Given the description of an element on the screen output the (x, y) to click on. 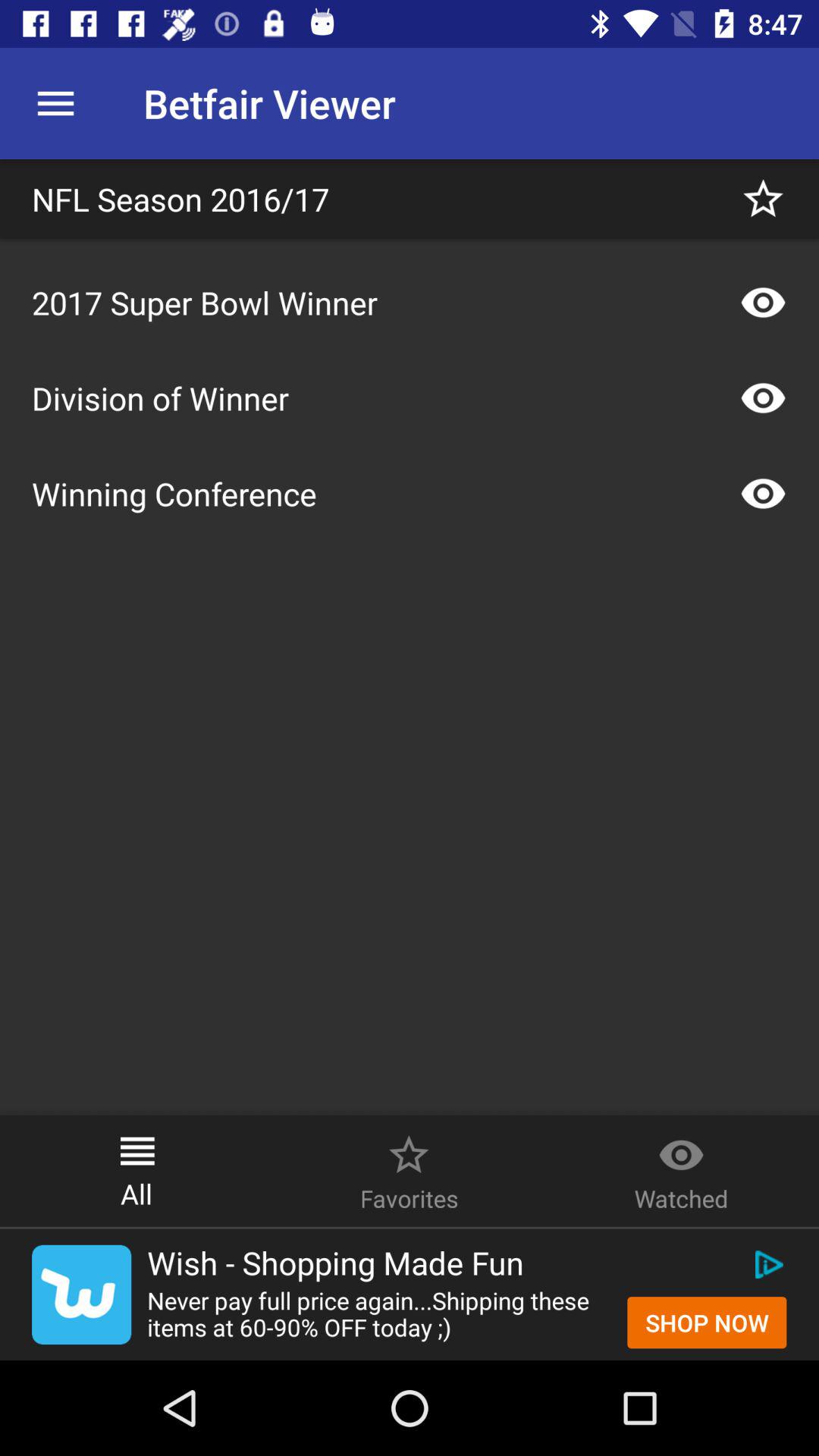
visualize element (763, 493)
